Given the description of an element on the screen output the (x, y) to click on. 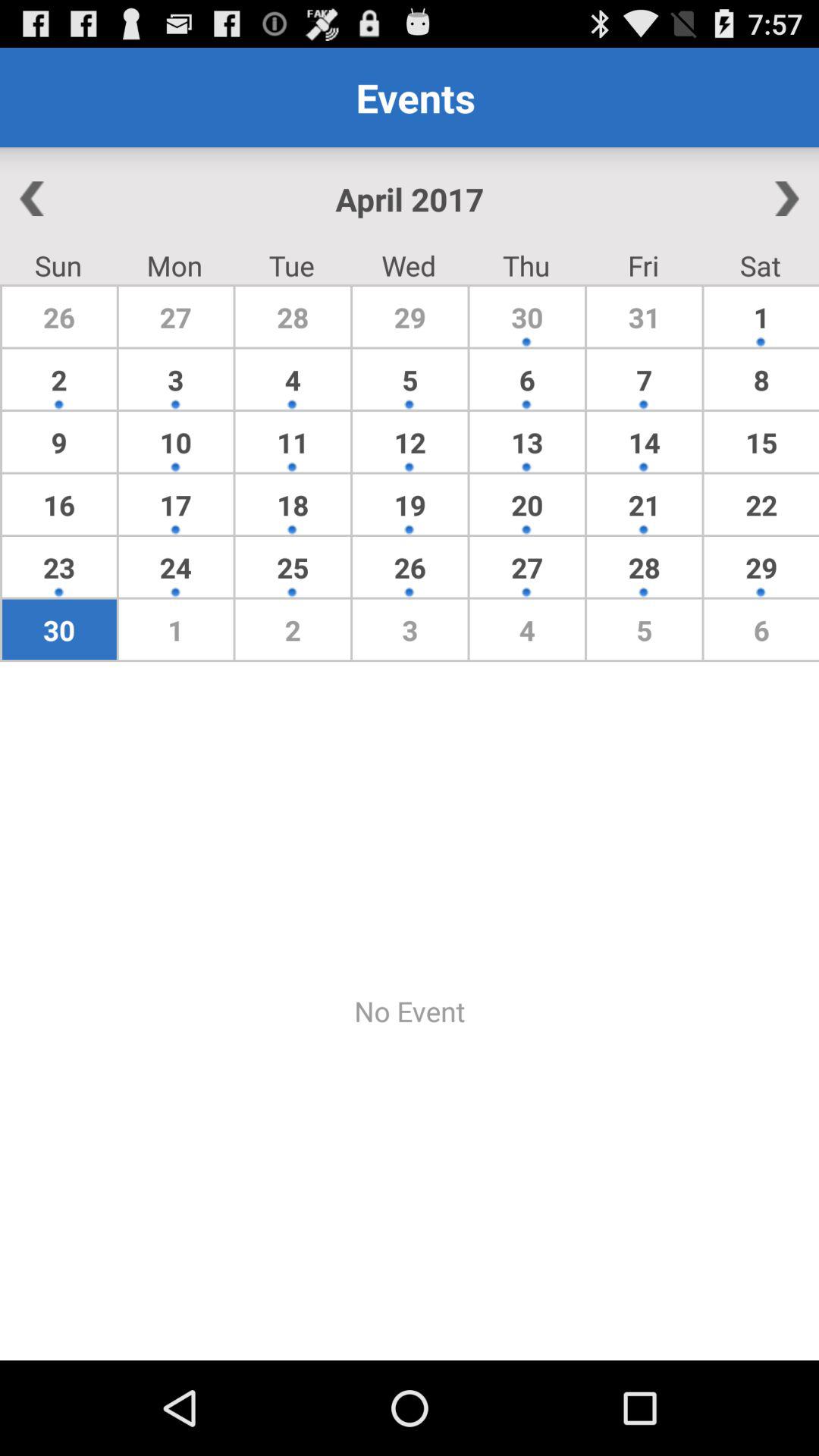
open icon to the left of 18 (175, 566)
